Given the description of an element on the screen output the (x, y) to click on. 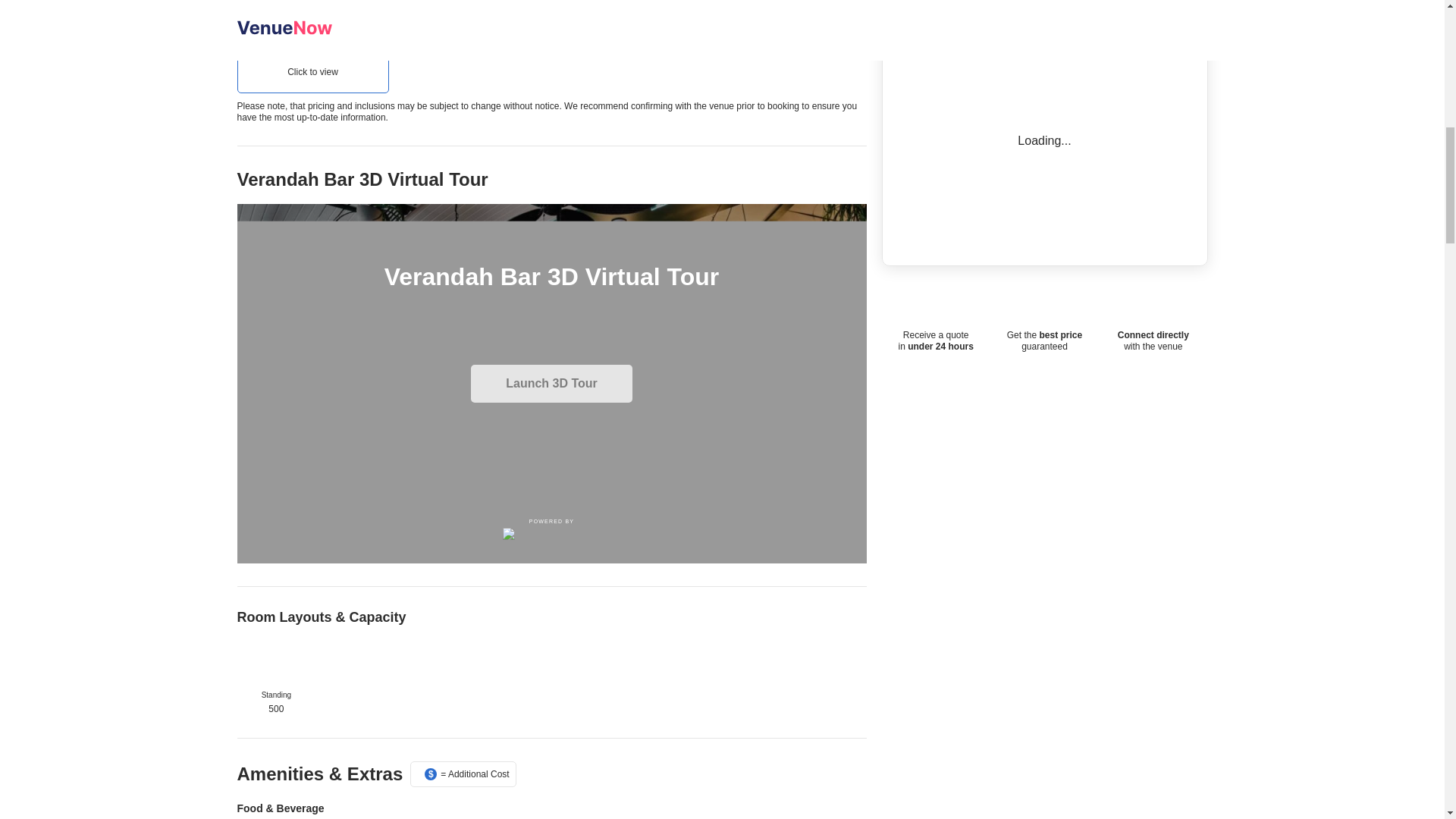
Select Standing layout (275, 664)
Launch 3D Tour (550, 383)
